Given the description of an element on the screen output the (x, y) to click on. 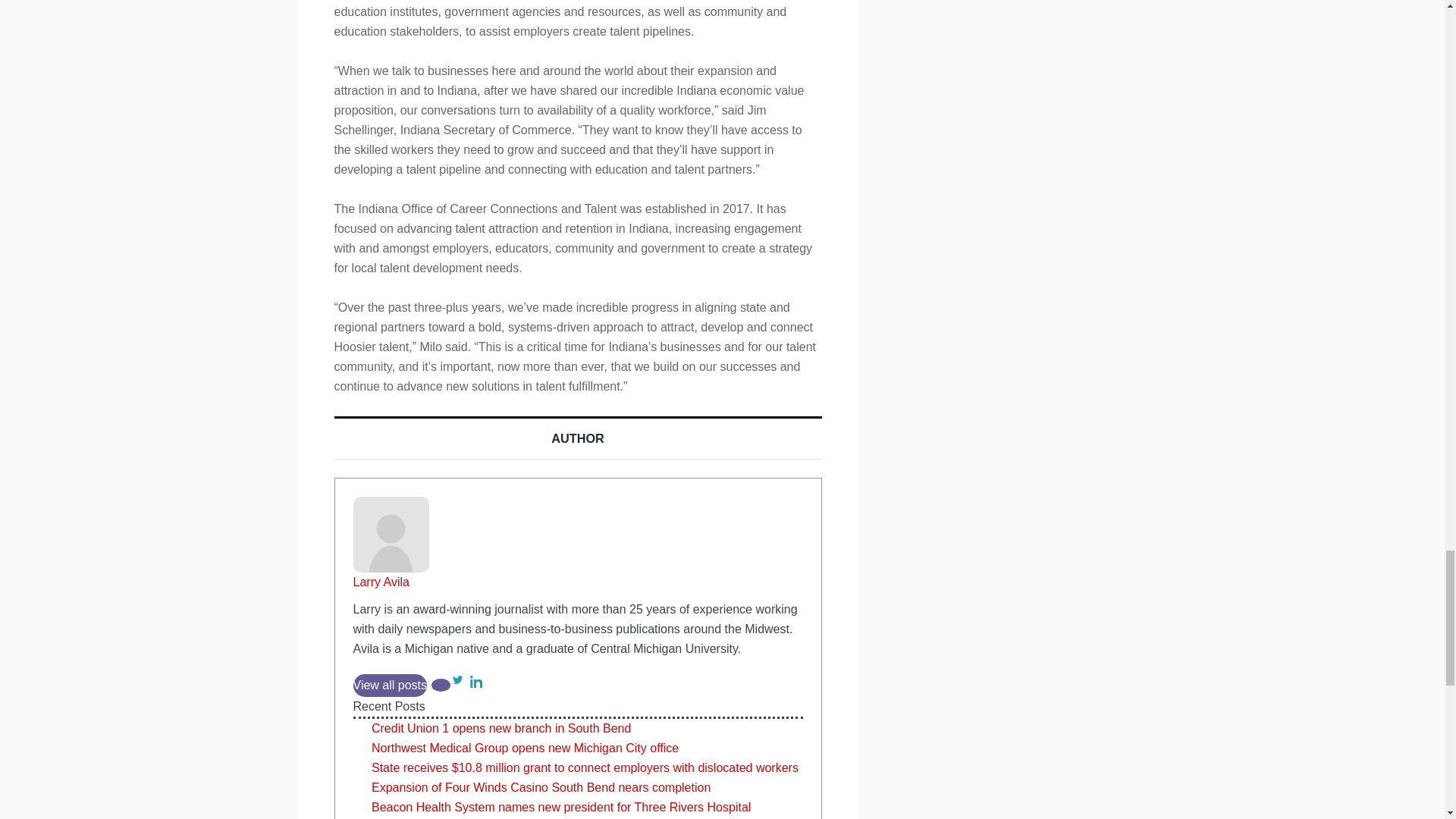
Credit Union 1 opens new branch in South Bend (500, 727)
Larry Avila (381, 581)
Northwest Medical Group opens new Michigan City office (524, 748)
Expansion of Four Winds Casino South Bend nears completion (540, 787)
View all posts (390, 685)
